Given the description of an element on the screen output the (x, y) to click on. 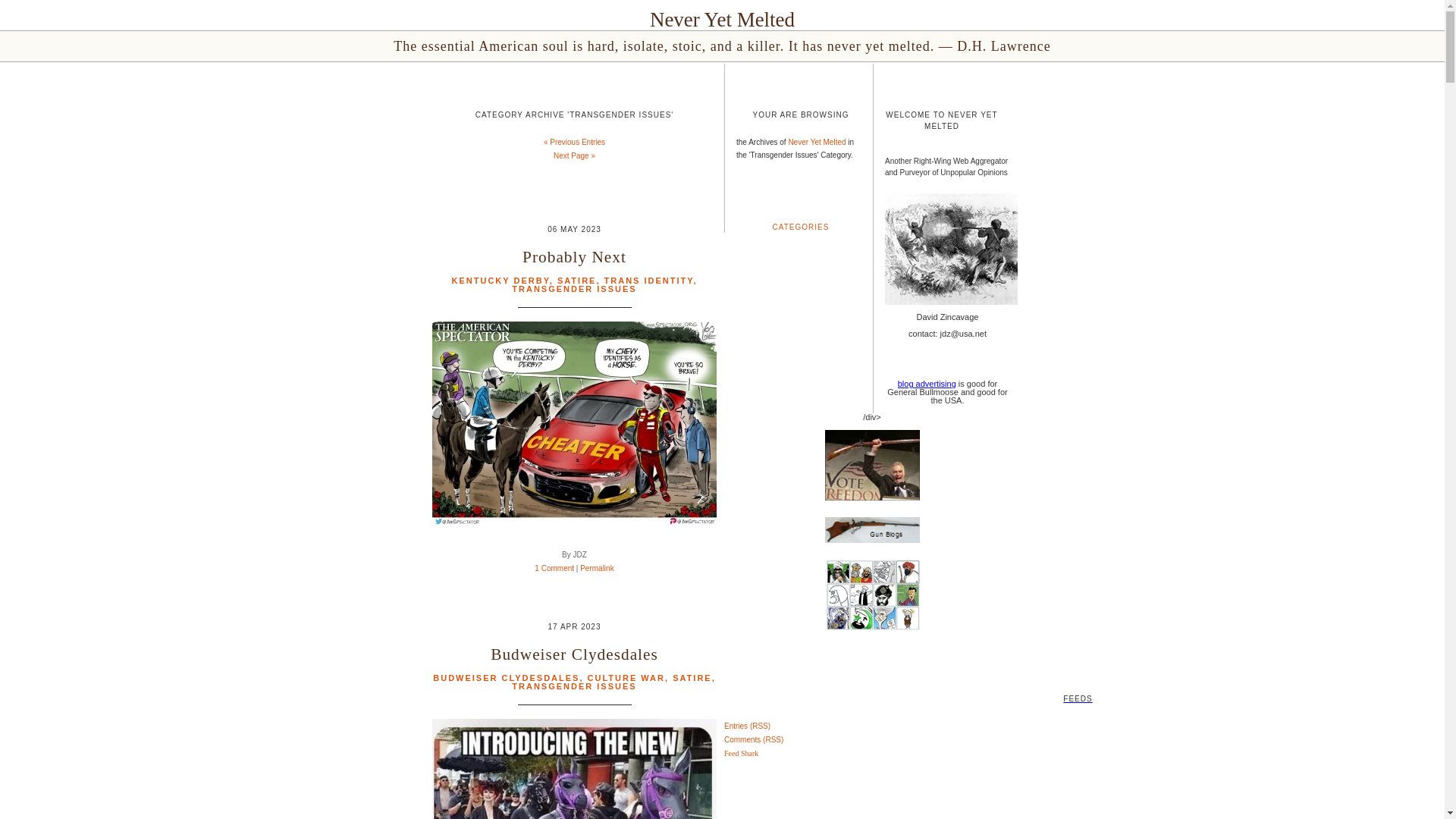
SATIRE (576, 280)
CULTURE WAR (626, 677)
Never Yet Melted (721, 19)
TRANSGENDER ISSUES (574, 288)
TRANSGENDER ISSUES (574, 686)
KENTUCKY DERBY (500, 280)
Budweiser Clydesdales (574, 654)
BUDWEISER CLYDESDALES (505, 677)
Probably Next (574, 257)
Permalink (595, 568)
1 Comment (553, 568)
SATIRE (691, 677)
TRANS IDENTITY (649, 280)
